Given the description of an element on the screen output the (x, y) to click on. 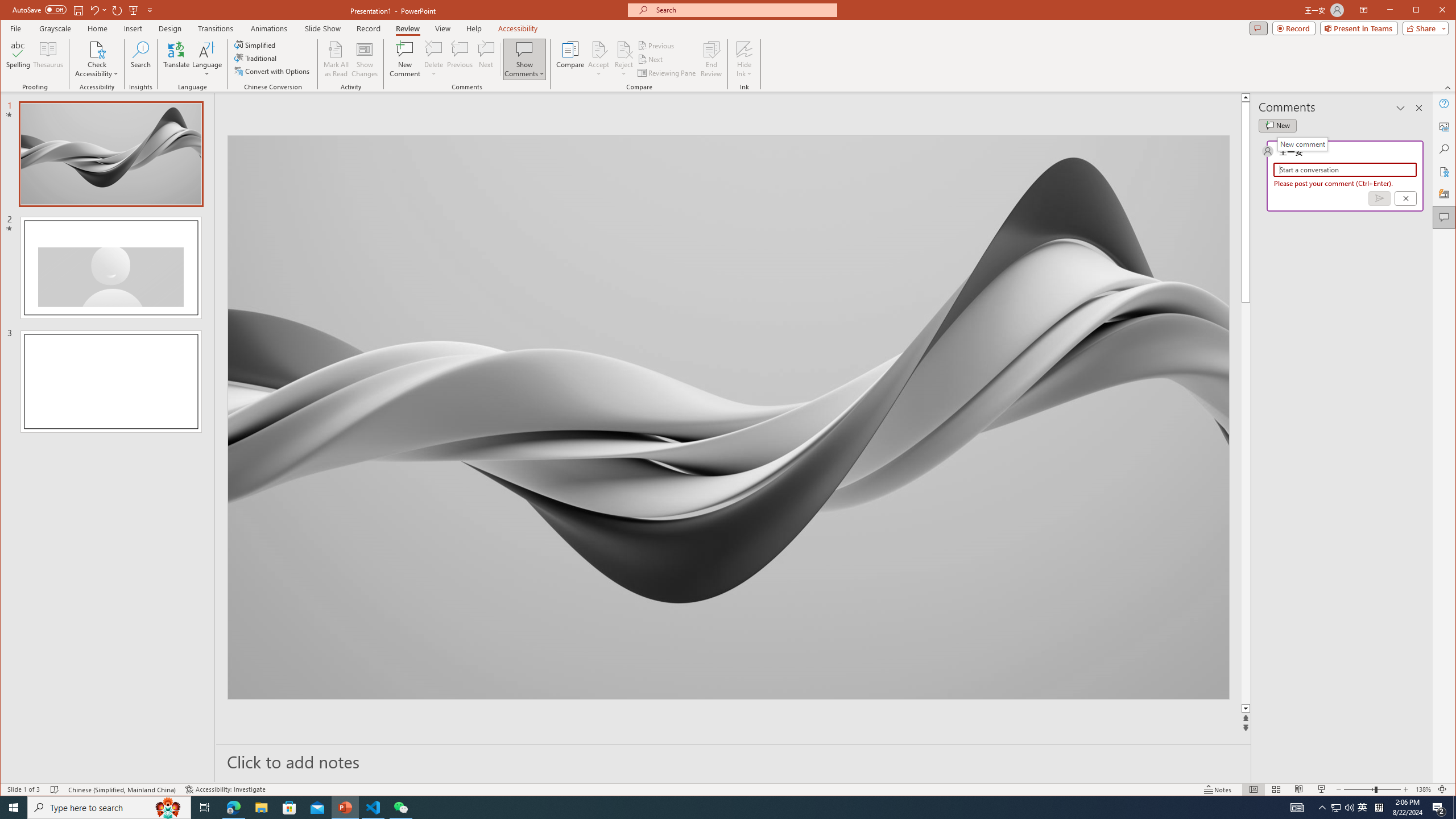
Delete (433, 59)
Save (77, 9)
Share (1422, 27)
Slide Show (1362, 807)
Review (1321, 789)
Notification Chevron (407, 28)
Slide Show (1322, 807)
Search (322, 28)
New comment (1444, 148)
Type here to search (1301, 143)
Running applications (108, 807)
Thesaurus... (707, 807)
Start a conversation (48, 59)
Notes  (1344, 169)
